Given the description of an element on the screen output the (x, y) to click on. 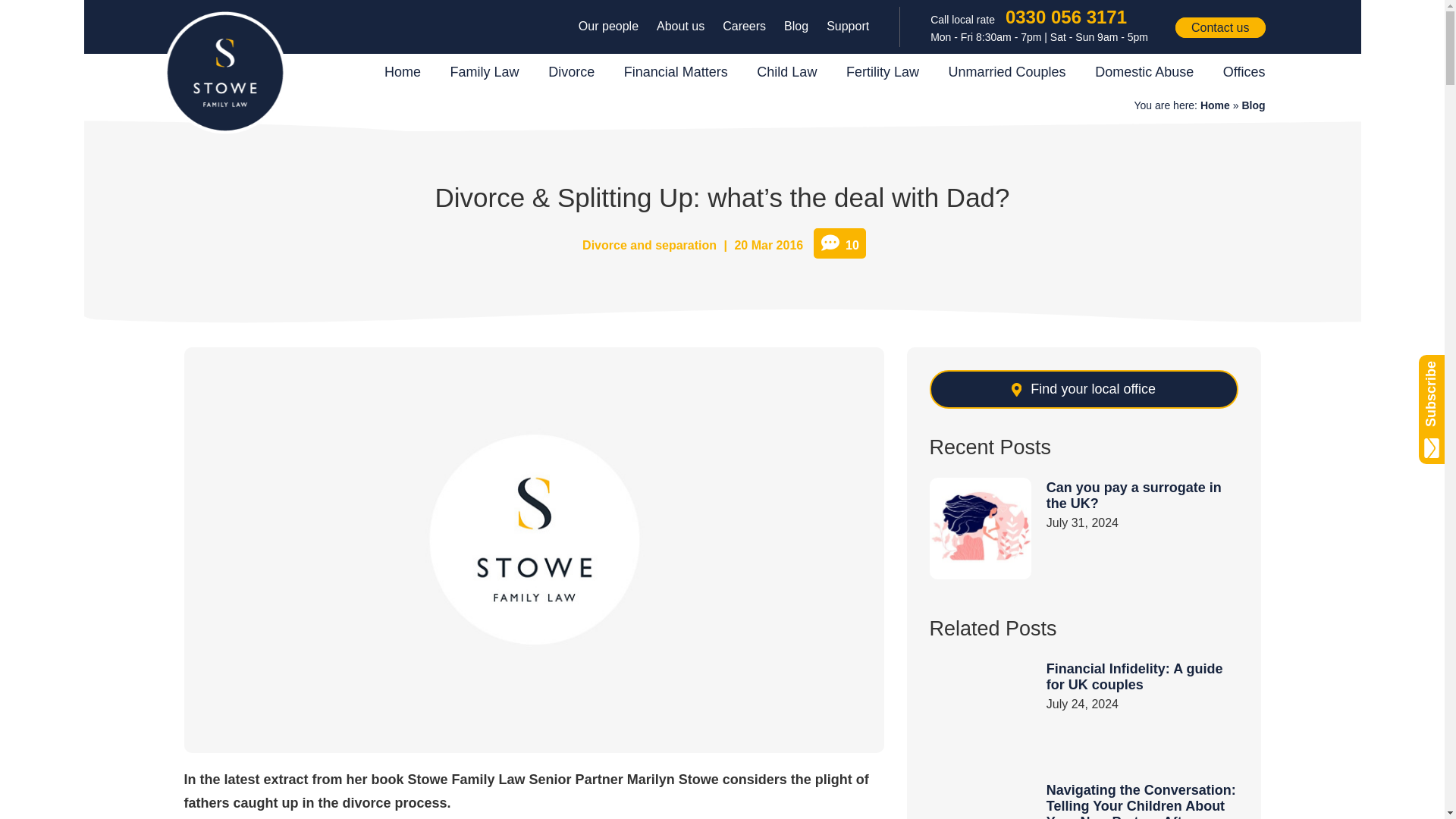
stowe-family-law-logo (224, 72)
10 (839, 243)
Home (1214, 105)
